Given the description of an element on the screen output the (x, y) to click on. 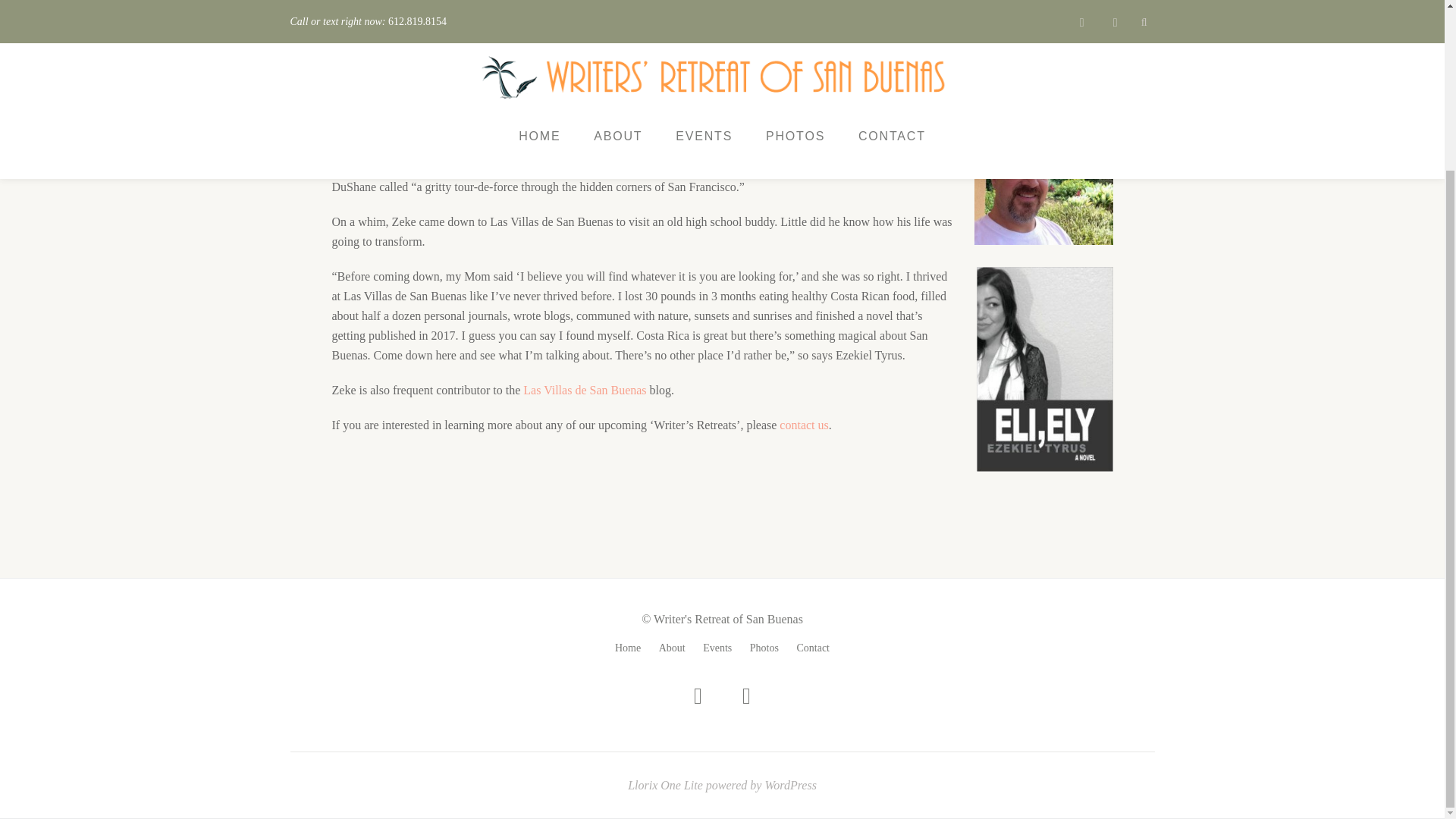
Events (717, 647)
Llorix One Lite (666, 784)
fa-facebook (697, 698)
Amazon (678, 166)
About (672, 647)
WordPress (789, 784)
Photos (763, 647)
contact us (803, 424)
Contact (812, 647)
fa-twitter (745, 698)
Las Villas de San Buenas (585, 390)
Home (627, 647)
